Given the description of an element on the screen output the (x, y) to click on. 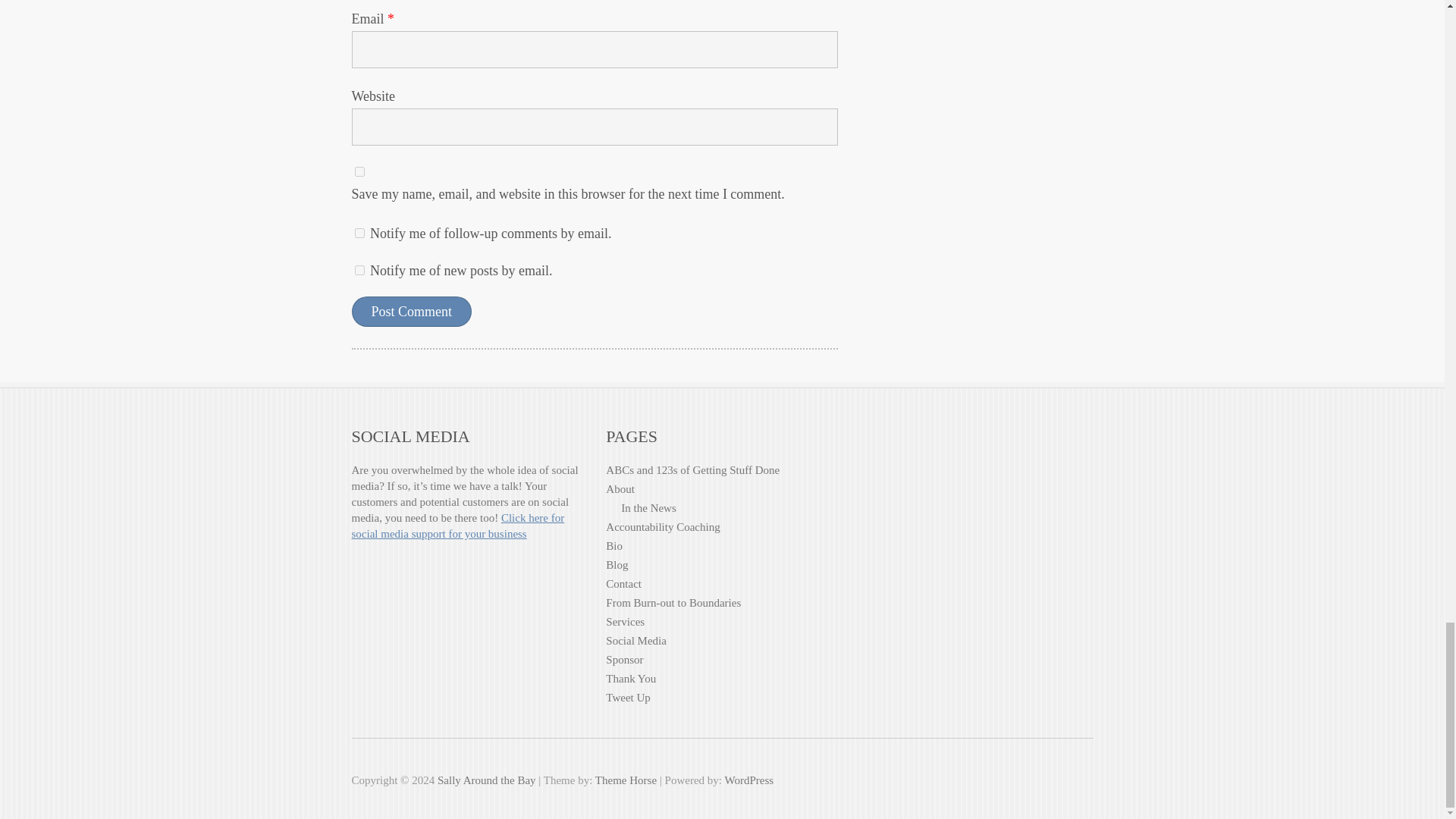
yes (360, 171)
WordPress (748, 779)
subscribe (360, 233)
subscribe (360, 270)
Post Comment (411, 311)
Theme Horse (625, 779)
Sally Around the Bay (486, 779)
